Given the description of an element on the screen output the (x, y) to click on. 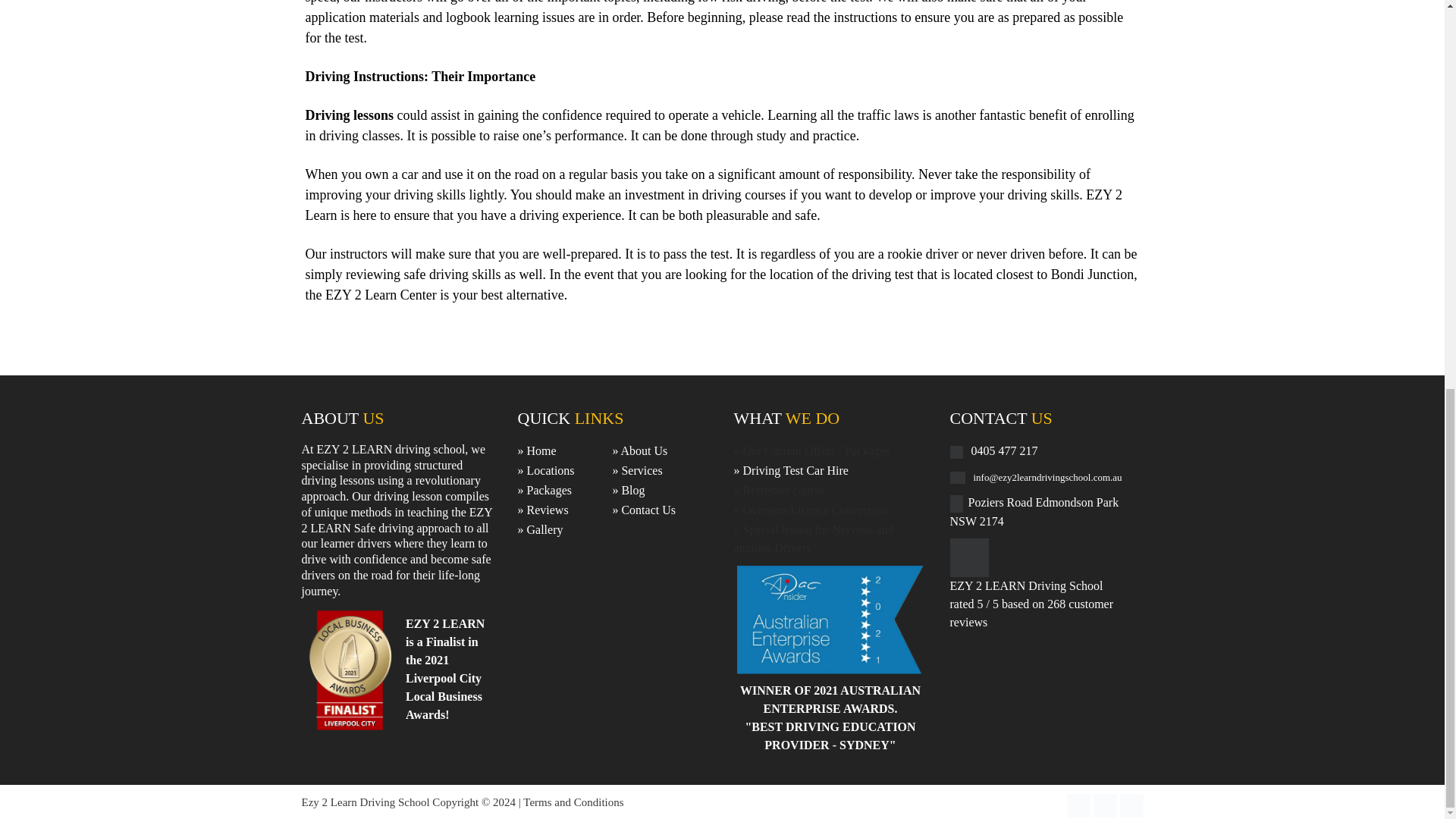
0405 477 217 (1003, 450)
